Given the description of an element on the screen output the (x, y) to click on. 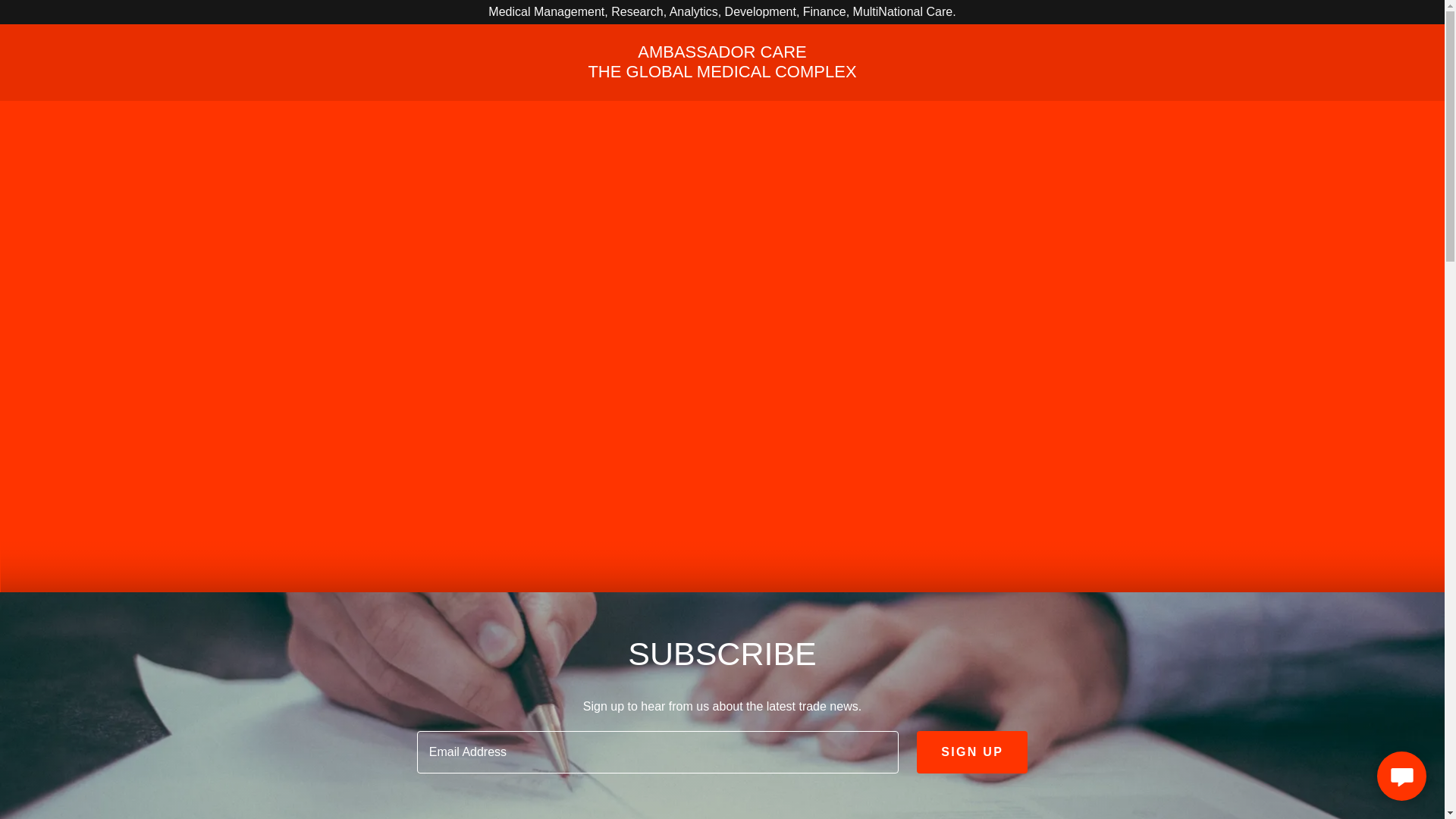
SIGN UP (721, 72)
